Given the description of an element on the screen output the (x, y) to click on. 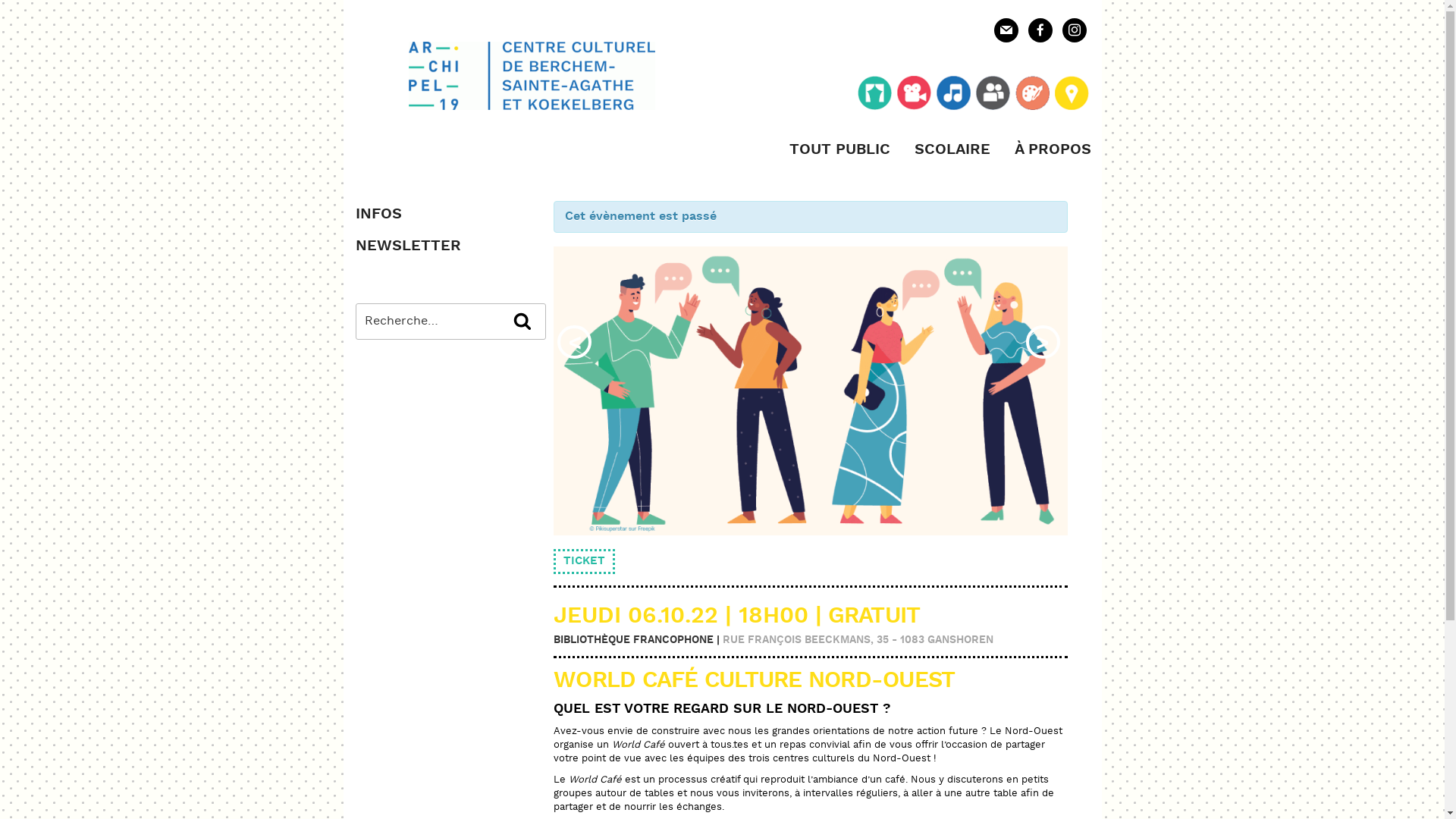
Le Centre Culturel Element type: hover (1071, 95)
mail Element type: text (1005, 28)
facebook Element type: text (1040, 28)
NEWSLETTER Element type: text (407, 245)
TICKET Element type: text (584, 561)
Ateliers Element type: hover (1031, 95)
SCOLAIRE Element type: text (952, 149)
TOUT PUBLIC Element type: text (839, 149)
Spectacles Element type: hover (873, 95)
< Element type: text (574, 341)
> Element type: text (1043, 341)
Concerts Element type: hover (952, 95)
INFOS Element type: text (377, 213)
instagram Element type: text (1073, 28)
